Given the description of an element on the screen output the (x, y) to click on. 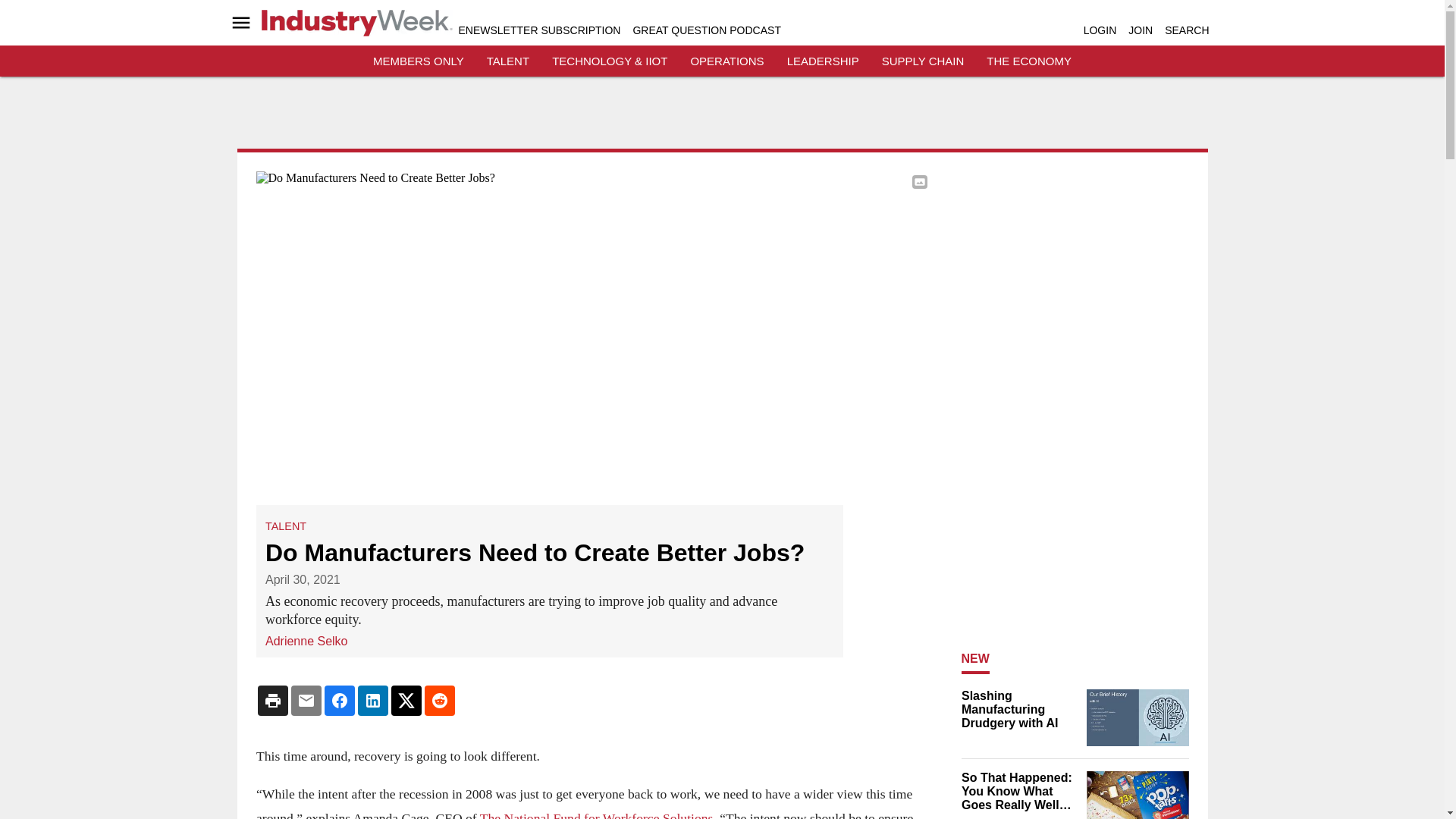
JOIN (1140, 30)
OPERATIONS (726, 60)
SUPPLY CHAIN (922, 60)
LEADERSHIP (823, 60)
TALENT (507, 60)
ENEWSLETTER SUBSCRIPTION (539, 30)
LOGIN (1099, 30)
TALENT (284, 526)
SEARCH (1186, 30)
